Given the description of an element on the screen output the (x, y) to click on. 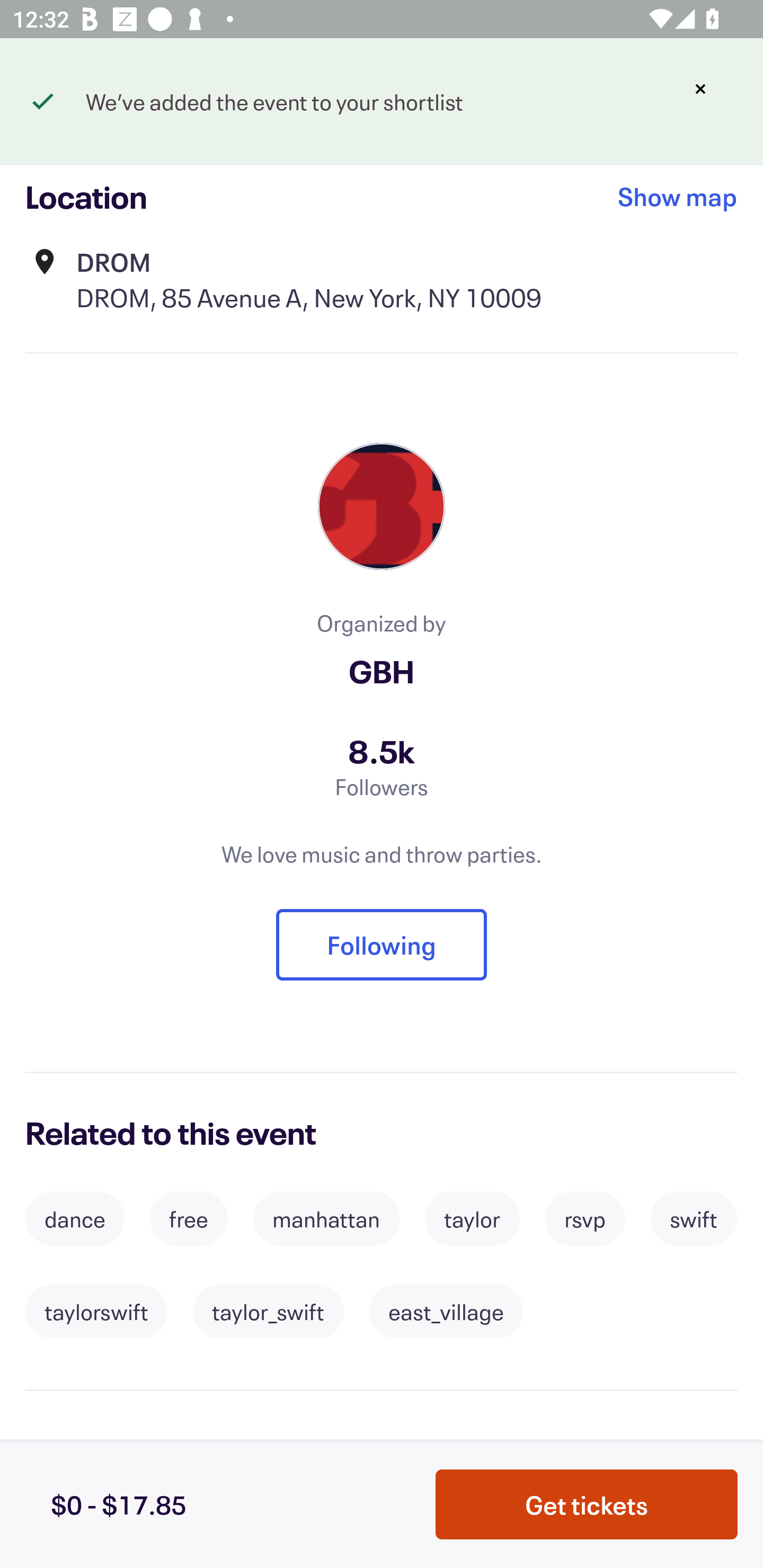
Dismiss notification (700, 89)
Back (57, 94)
Show map (677, 196)
Organizer profile picture (381, 506)
GBH (381, 670)
Following (381, 944)
dance (74, 1218)
free (189, 1218)
manhattan (326, 1218)
taylor (471, 1218)
rsvp (584, 1218)
swift (693, 1218)
taylorswift (96, 1311)
taylor_swift (268, 1311)
east_village (445, 1311)
Get tickets (586, 1504)
